Given the description of an element on the screen output the (x, y) to click on. 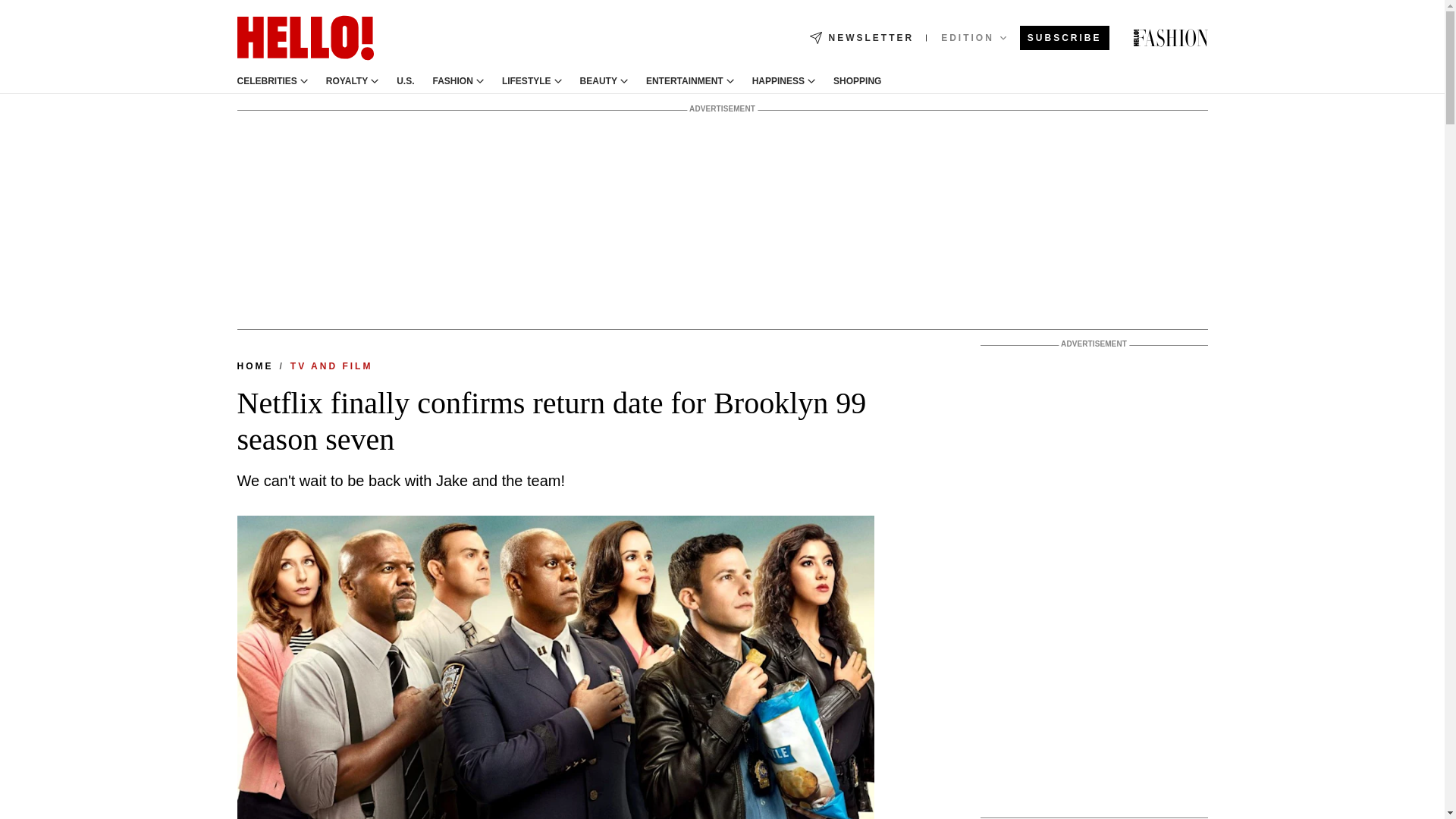
BEAUTY (598, 81)
NEWSLETTER (861, 38)
FASHION (452, 81)
ROYALTY (347, 81)
CELEBRITIES (266, 81)
U.S. (404, 81)
